Given the description of an element on the screen output the (x, y) to click on. 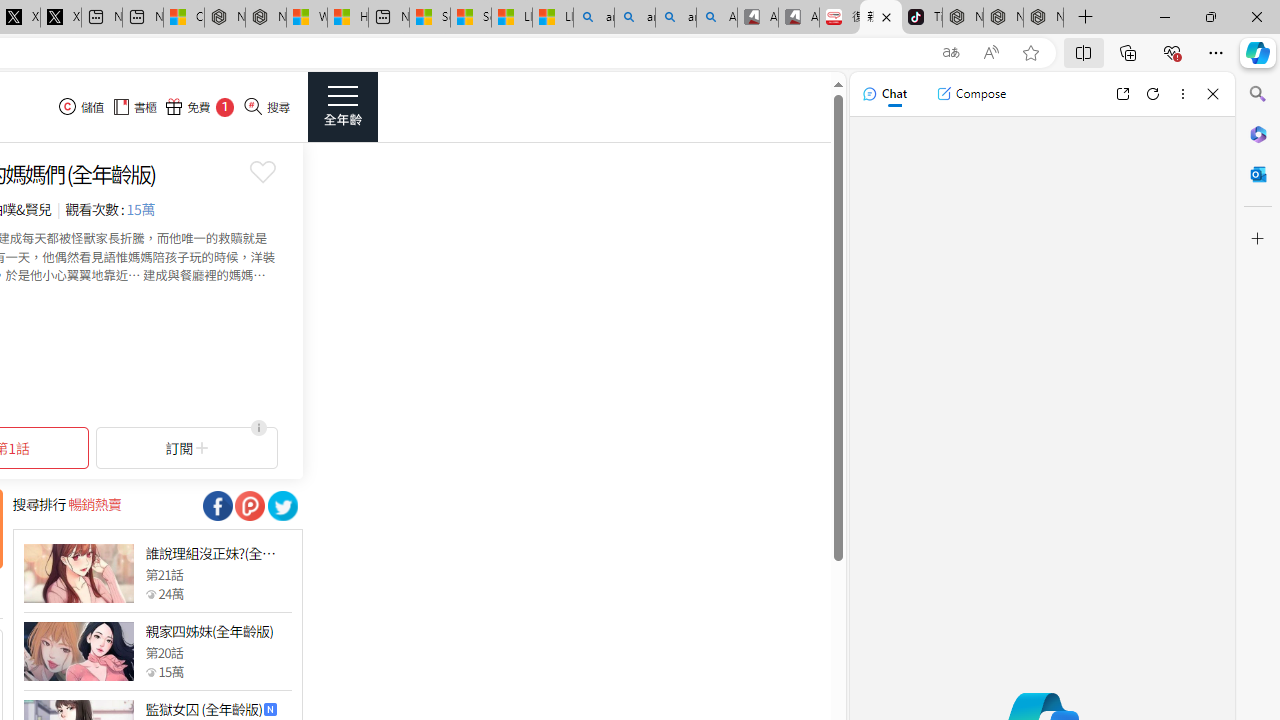
Amazon Echo Robot - Search Images (717, 17)
amazon - Search Images (675, 17)
Show translate options (950, 53)
